Given the description of an element on the screen output the (x, y) to click on. 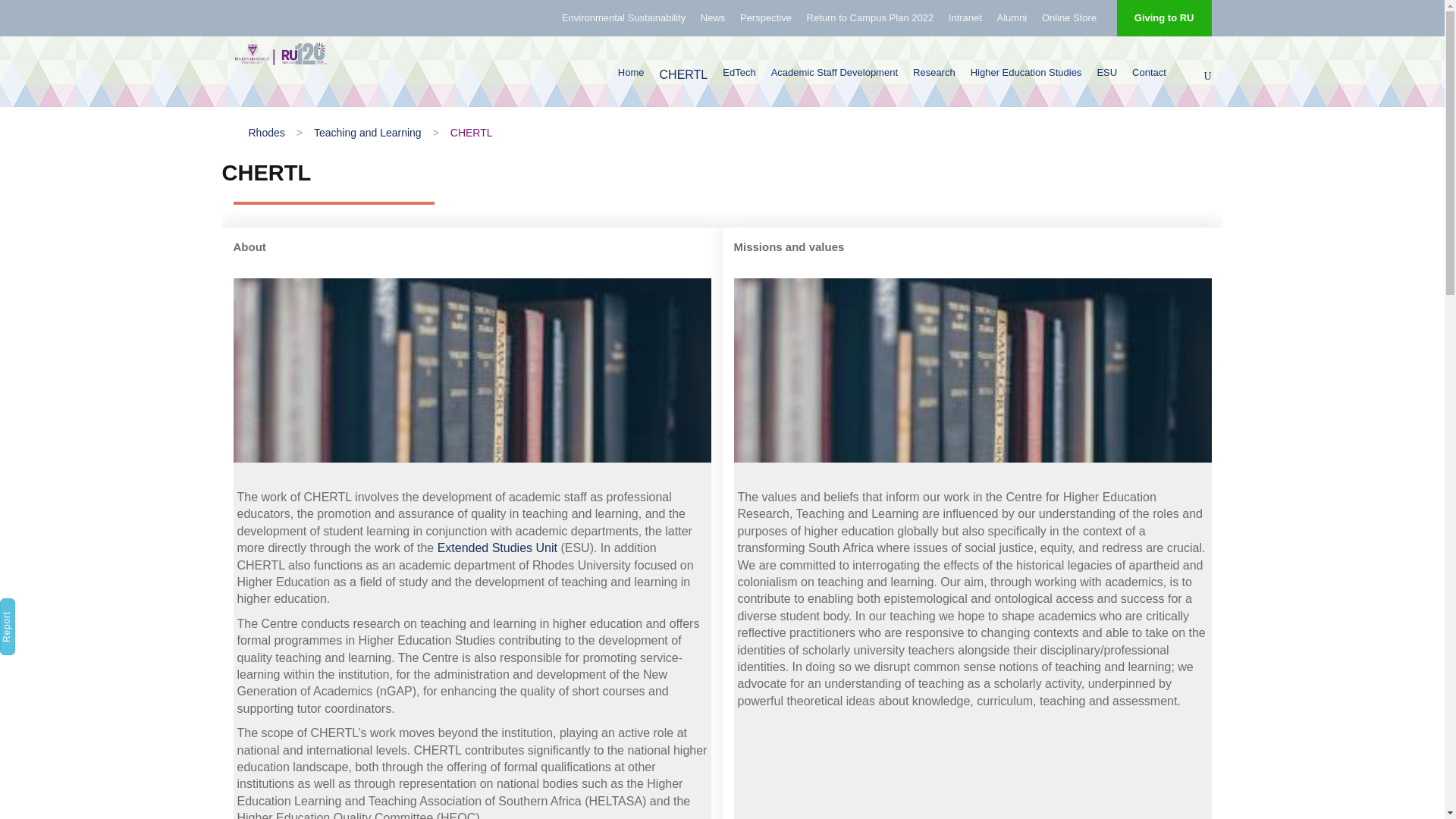
Rhodes Online Store (1069, 24)
